Given the description of an element on the screen output the (x, y) to click on. 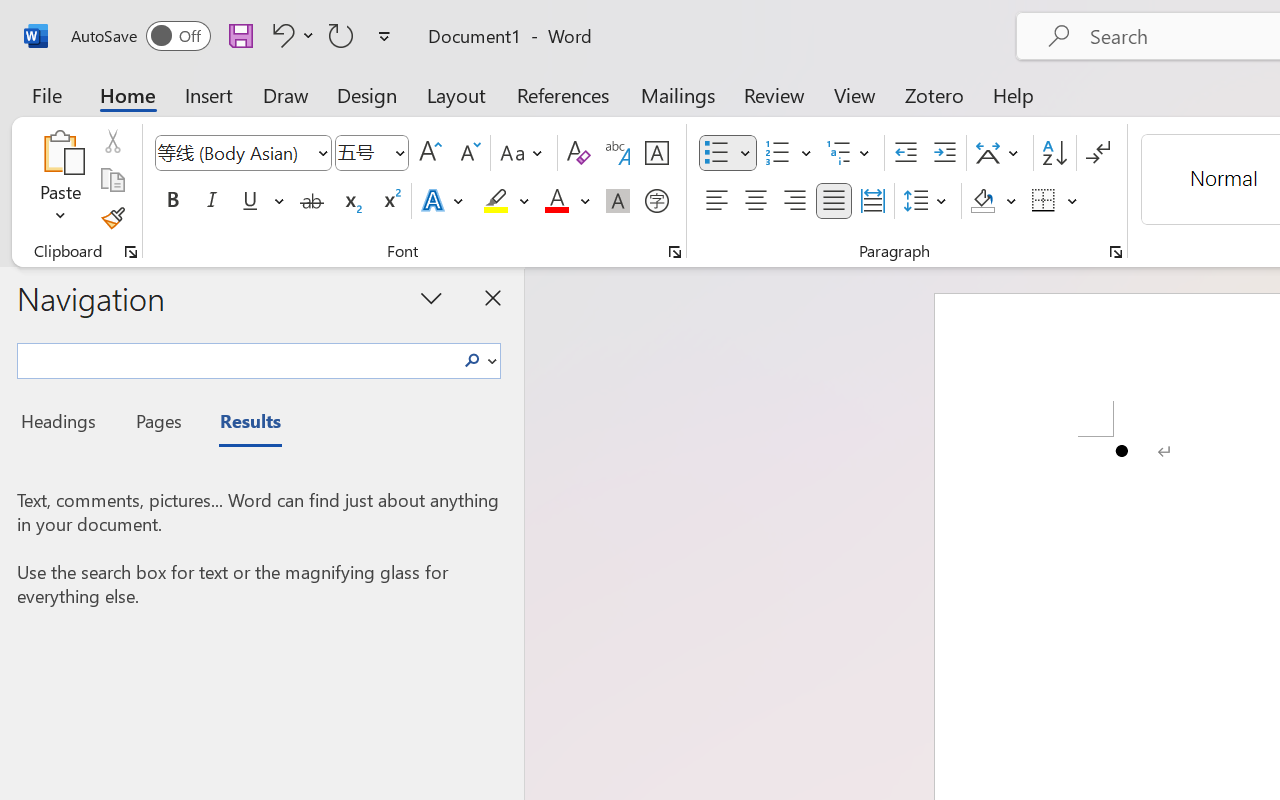
Pages (156, 424)
Results (240, 424)
